Given the description of an element on the screen output the (x, y) to click on. 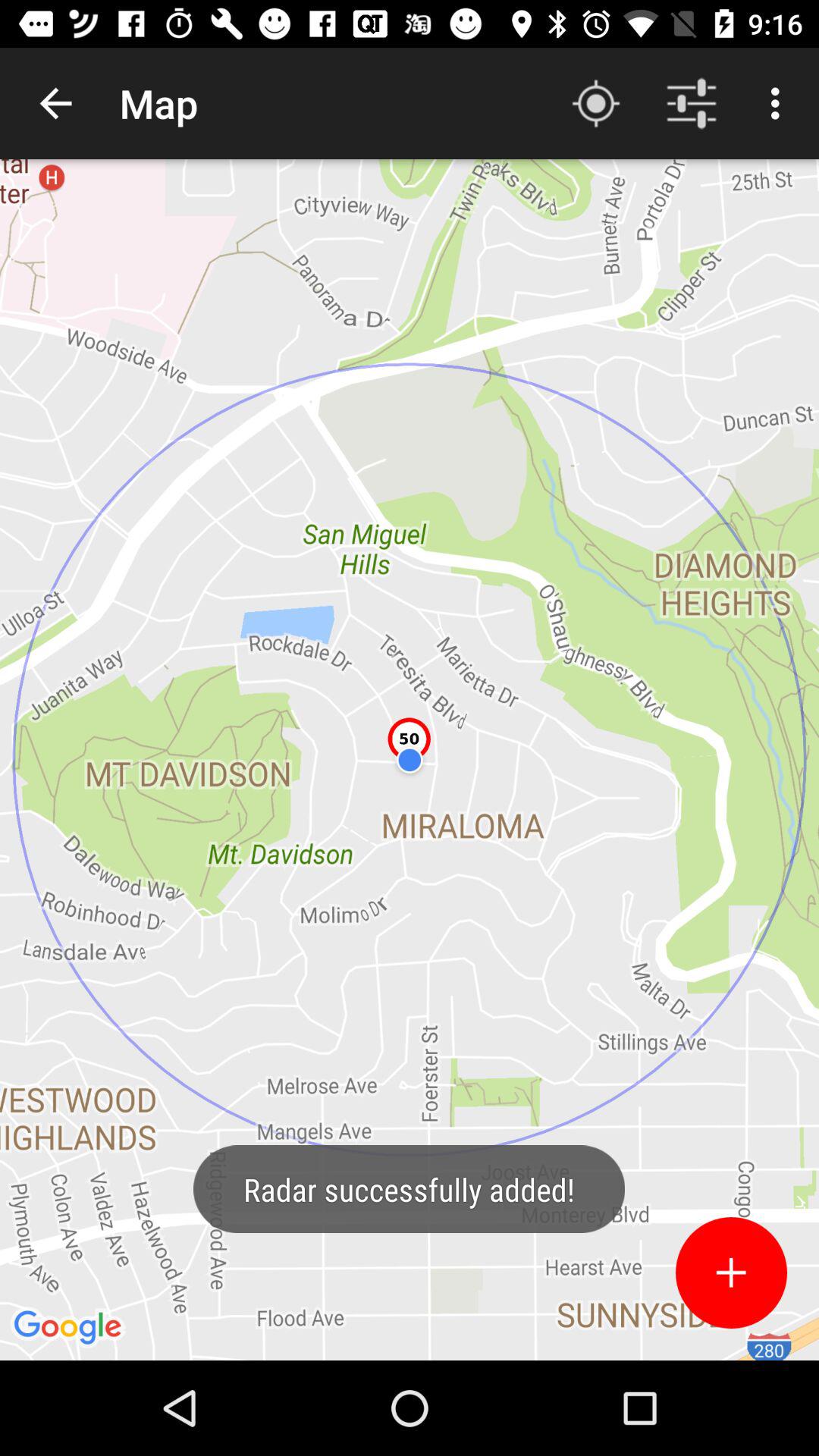
launch app next to the map app (595, 103)
